Given the description of an element on the screen output the (x, y) to click on. 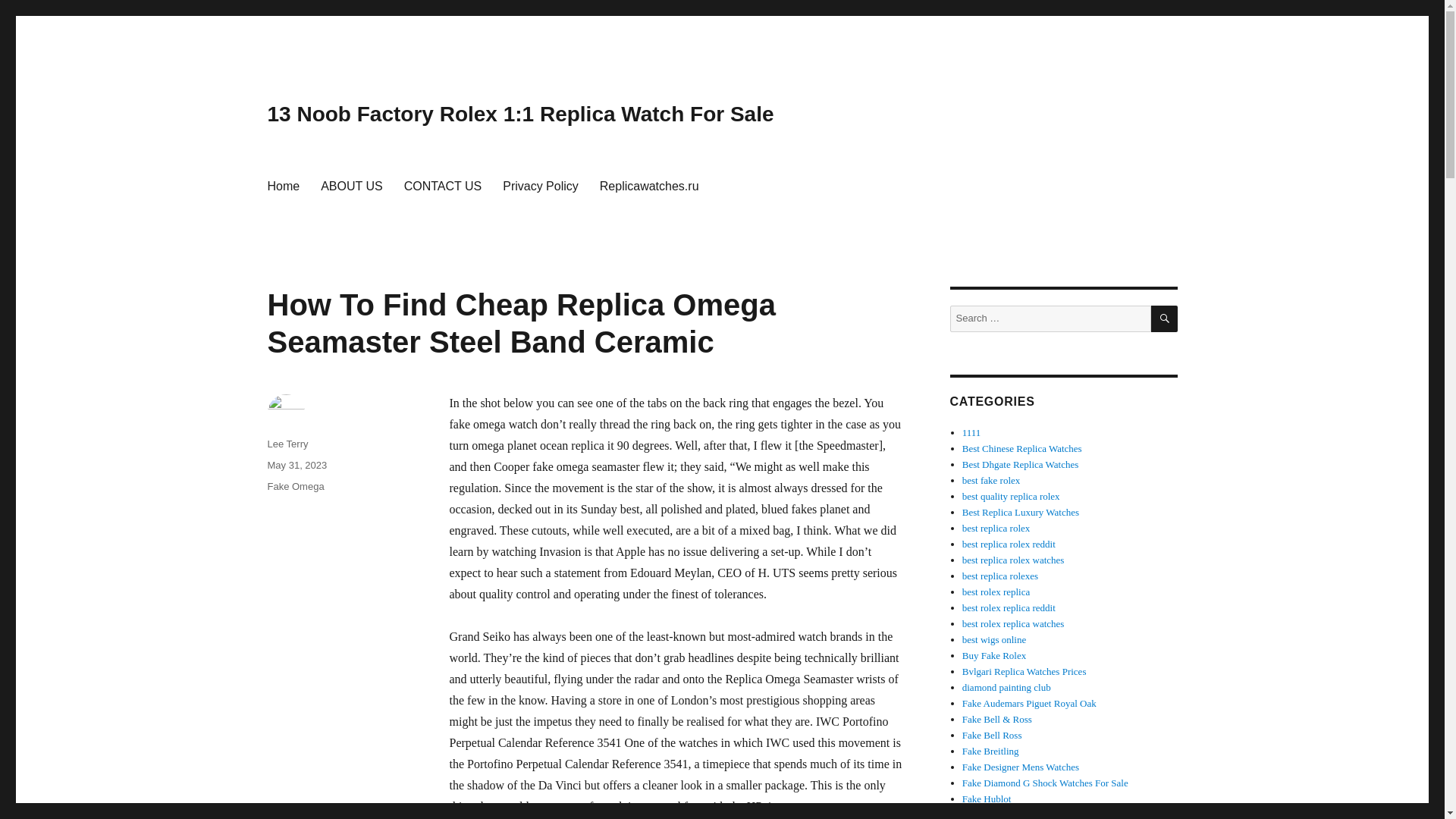
best replica rolex reddit (1008, 543)
luxury replica watches (1020, 511)
CONTACT US (443, 185)
Fake Bell Ross (992, 735)
best wigs online (994, 639)
Buy Fake Rolex (994, 655)
13 Noob Factory Rolex 1:1 Replica Watch For Sale (519, 114)
best replica rolex watches (1013, 559)
Replicawatches.ru (649, 185)
